Given the description of an element on the screen output the (x, y) to click on. 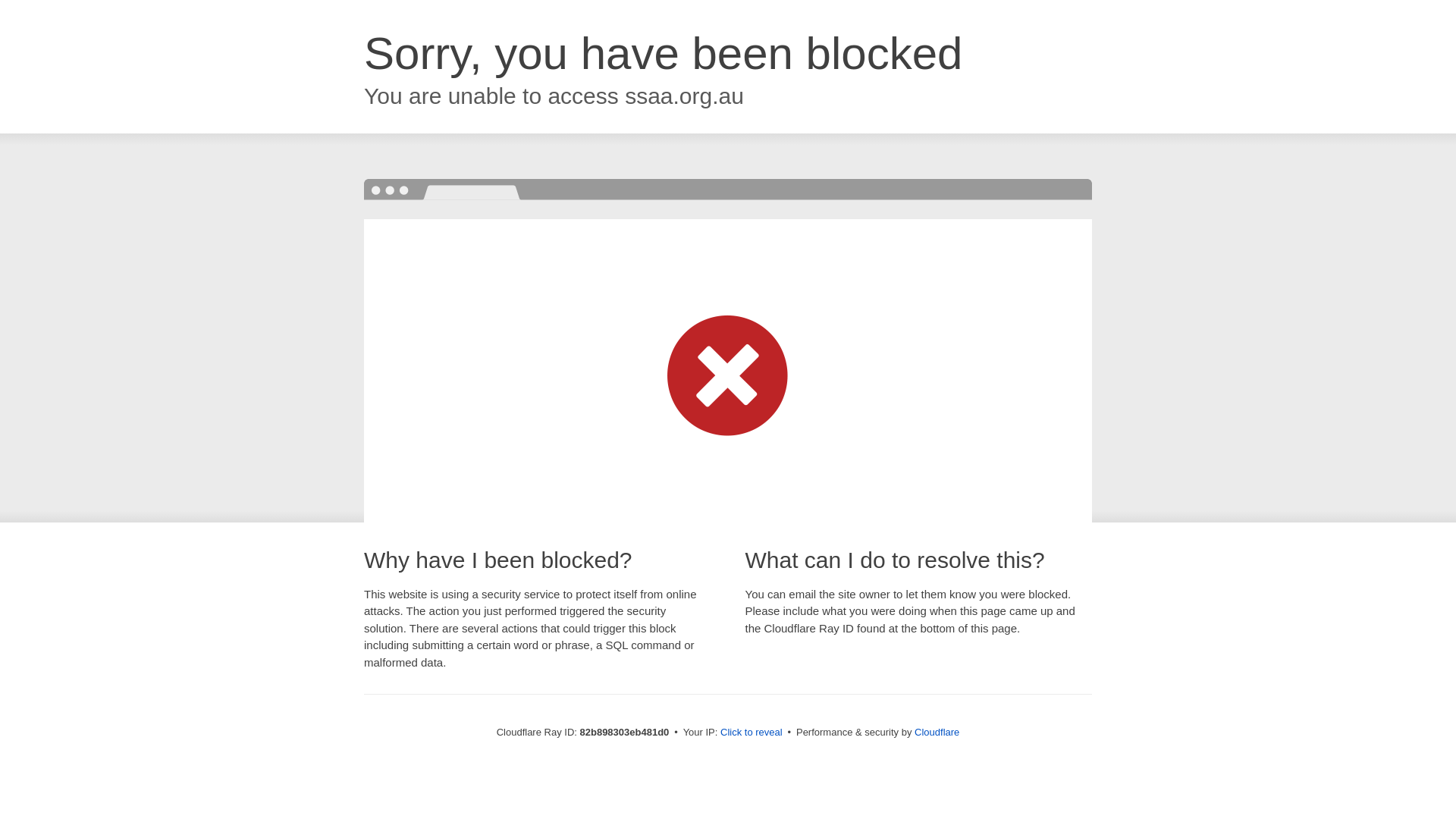
Click to reveal Element type: text (751, 732)
Cloudflare Element type: text (936, 731)
